Given the description of an element on the screen output the (x, y) to click on. 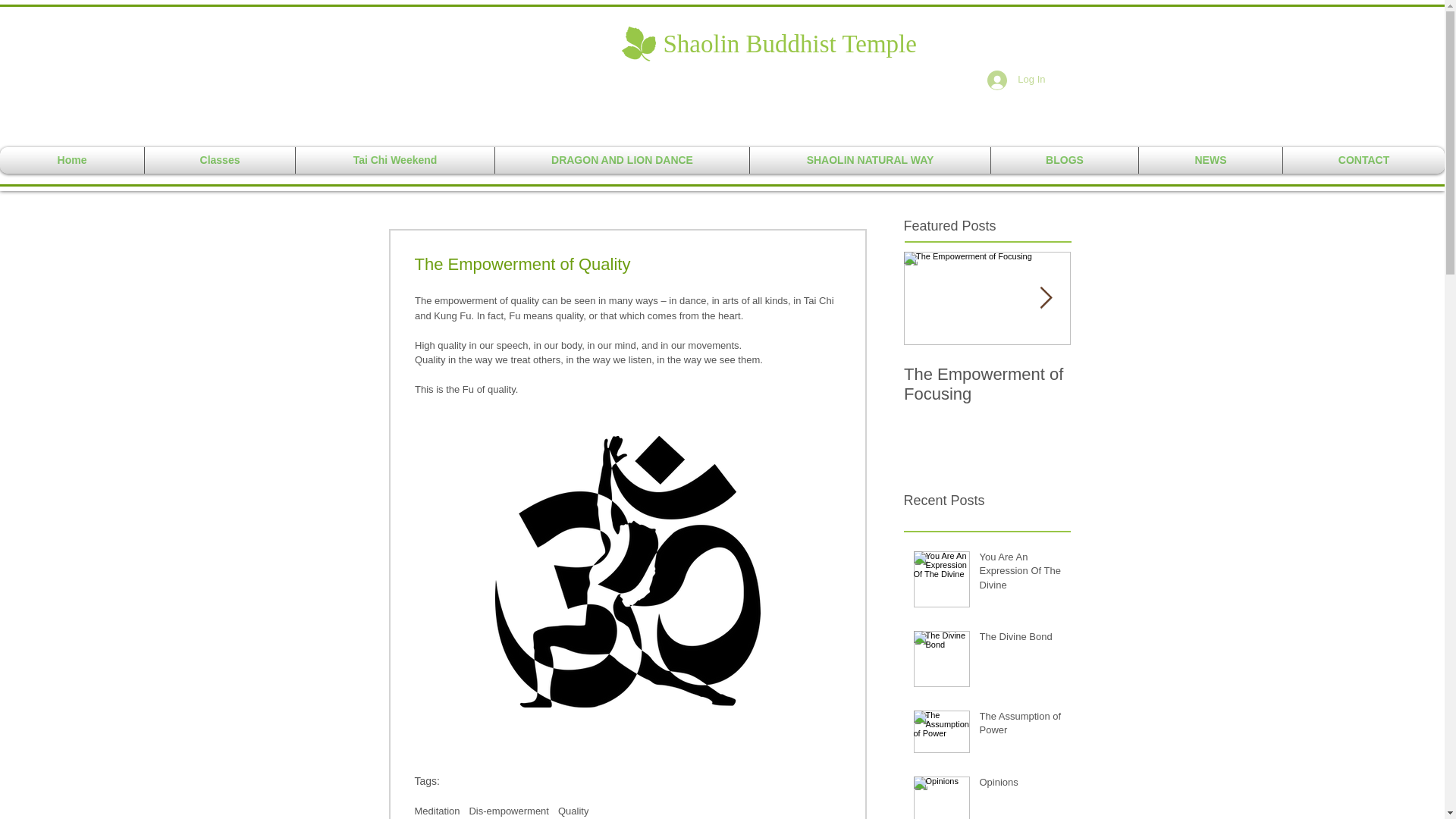
You Are An Expression Of The Divine (1020, 574)
Quality (572, 810)
The Divine Bond (1020, 639)
The Empowerment of Awareness (1153, 384)
The Assumption of Power (1020, 726)
Meditation (436, 810)
Opinions (1020, 785)
Log In (1015, 79)
Dis-empowerment (508, 810)
NEWS (1210, 160)
